Given the description of an element on the screen output the (x, y) to click on. 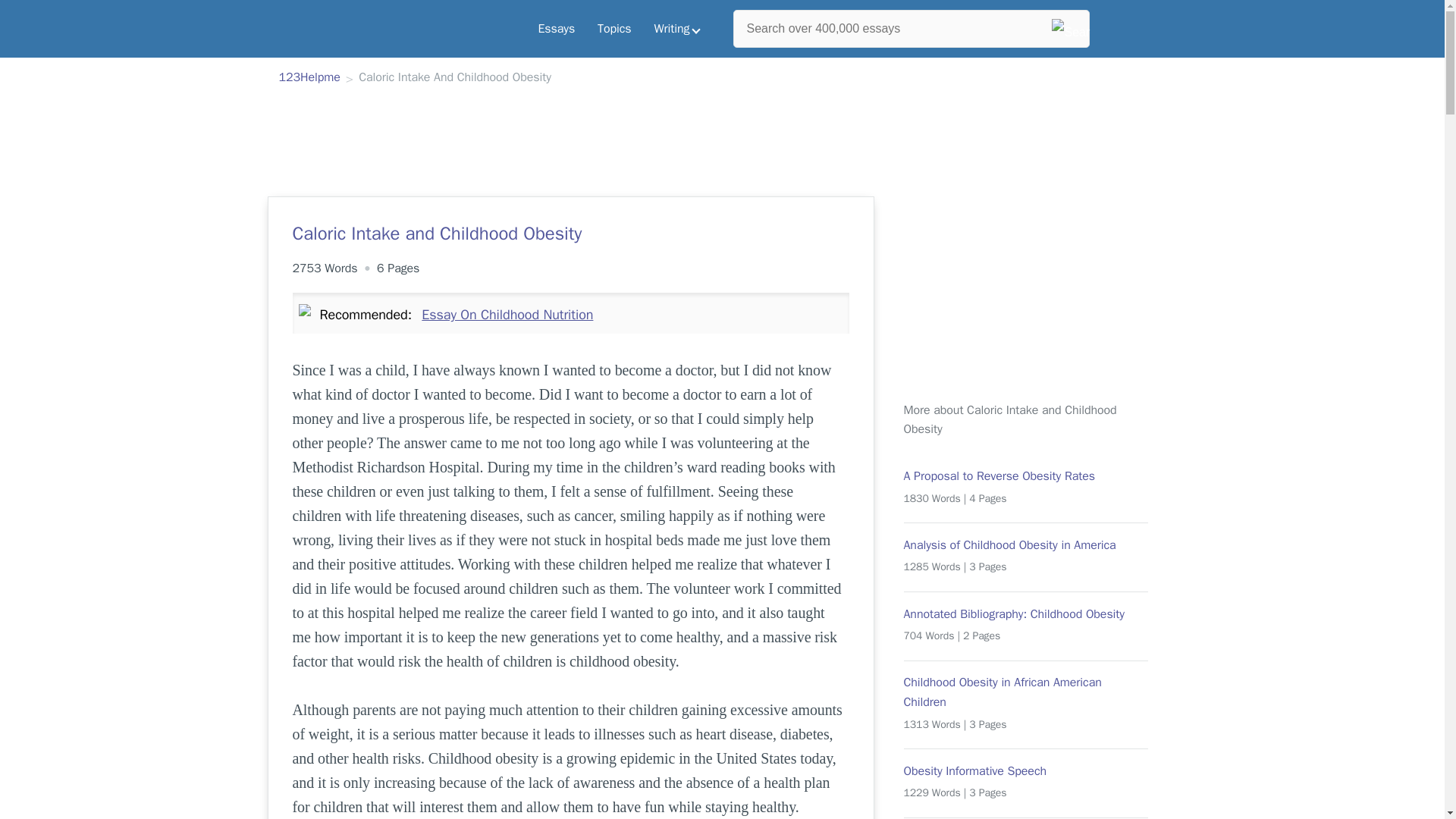
123Helpme (309, 78)
Topics (614, 28)
Essays (555, 28)
Writing (677, 28)
Essay On Childhood Nutrition (507, 314)
